Given the description of an element on the screen output the (x, y) to click on. 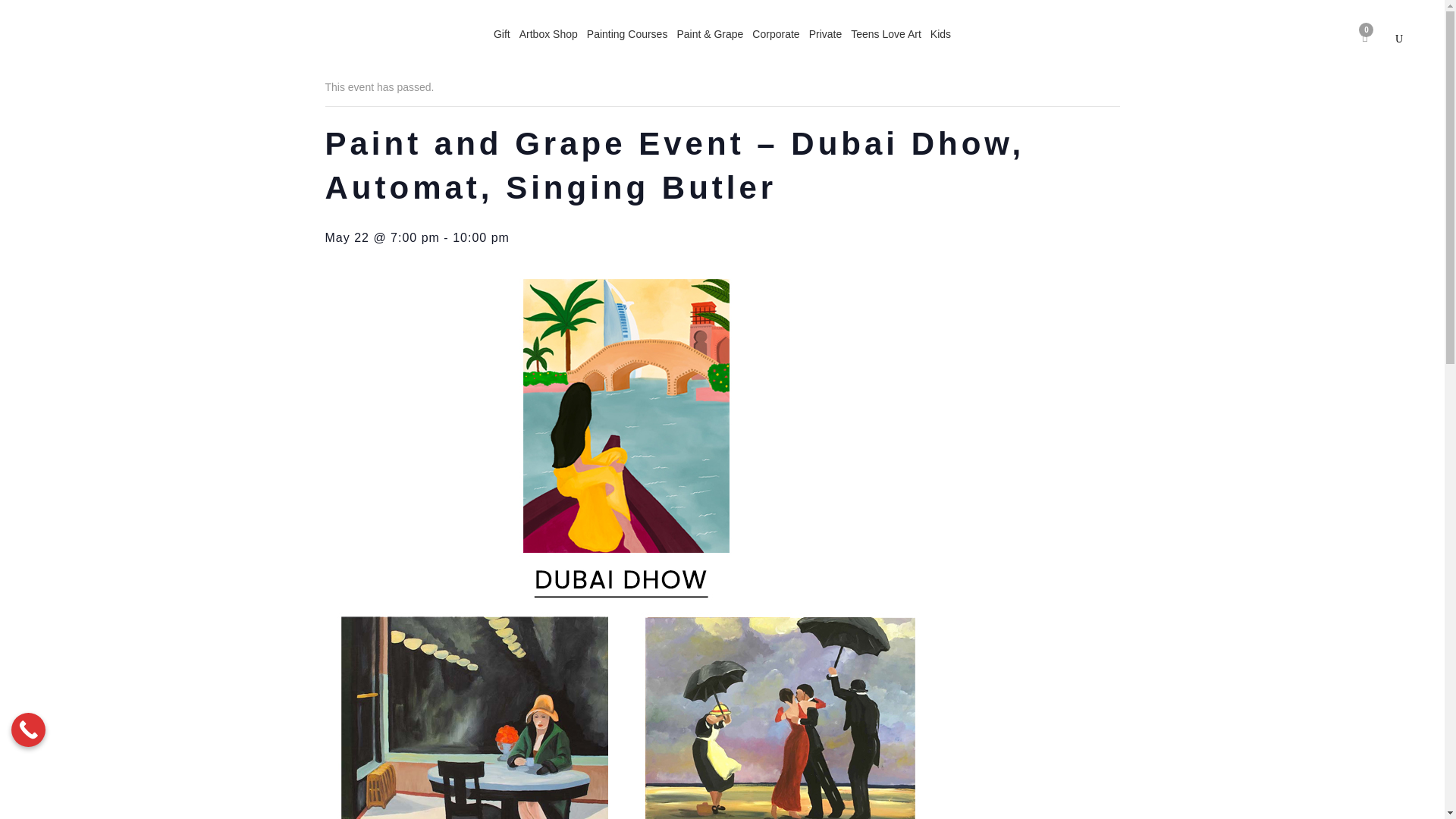
Teens Love Art (885, 33)
Artbox Shop (548, 33)
Painting Courses (627, 33)
